Given the description of an element on the screen output the (x, y) to click on. 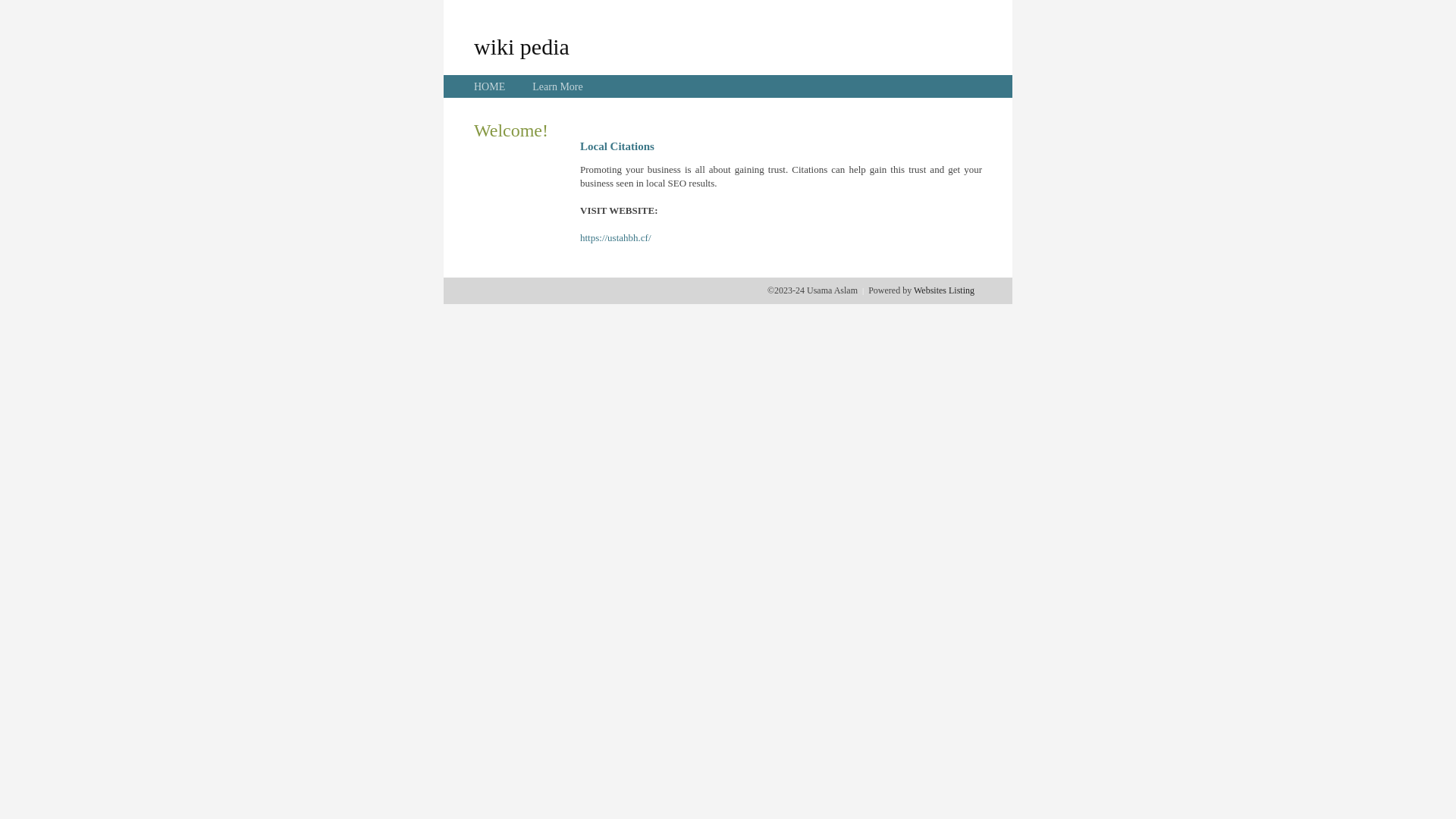
Websites Listing Element type: text (943, 290)
Learn More Element type: text (557, 86)
wiki pedia Element type: text (521, 46)
https://ustahbh.cf/ Element type: text (615, 237)
HOME Element type: text (489, 86)
